Given the description of an element on the screen output the (x, y) to click on. 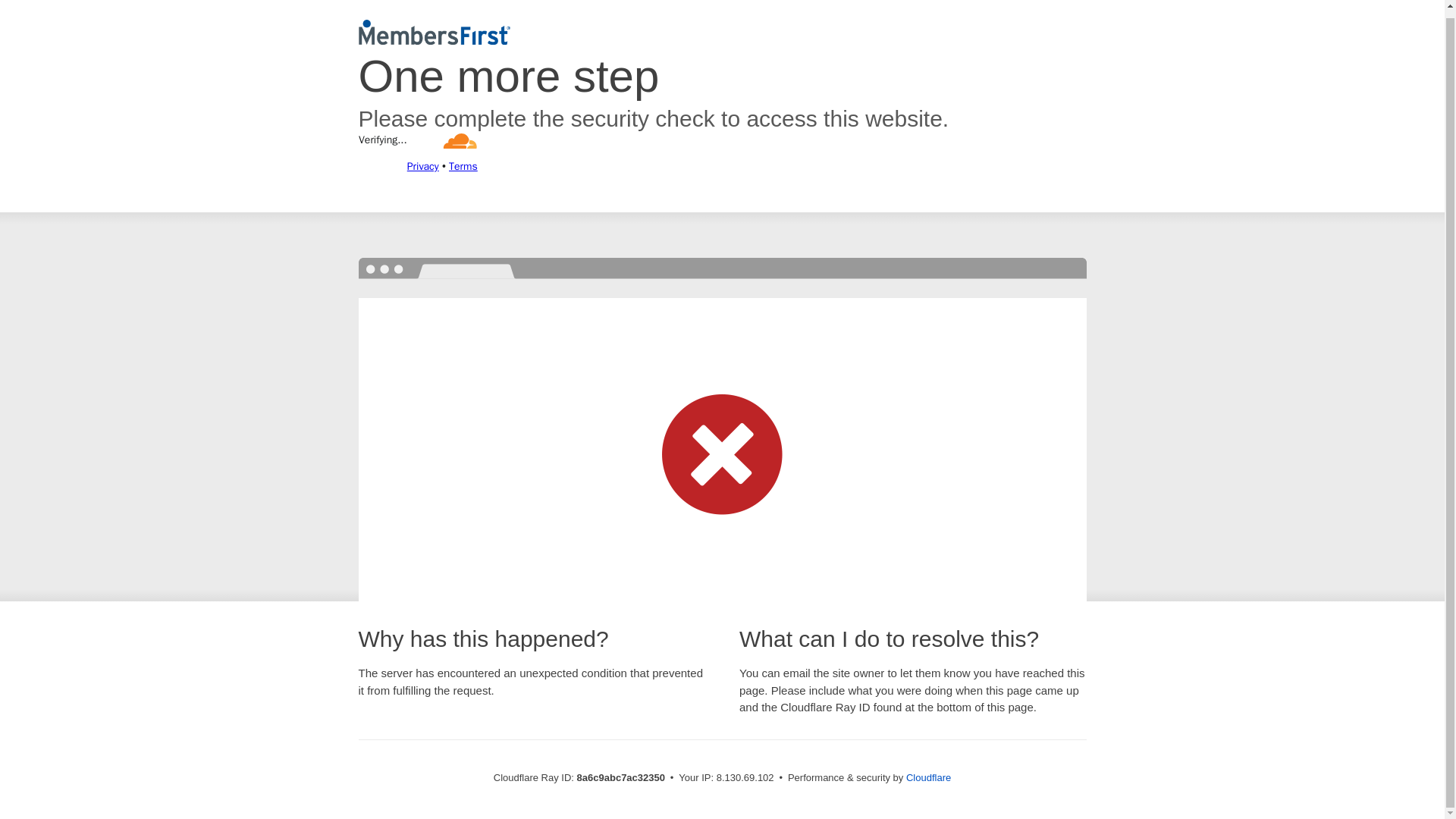
Cloudflare (927, 777)
